Given the description of an element on the screen output the (x, y) to click on. 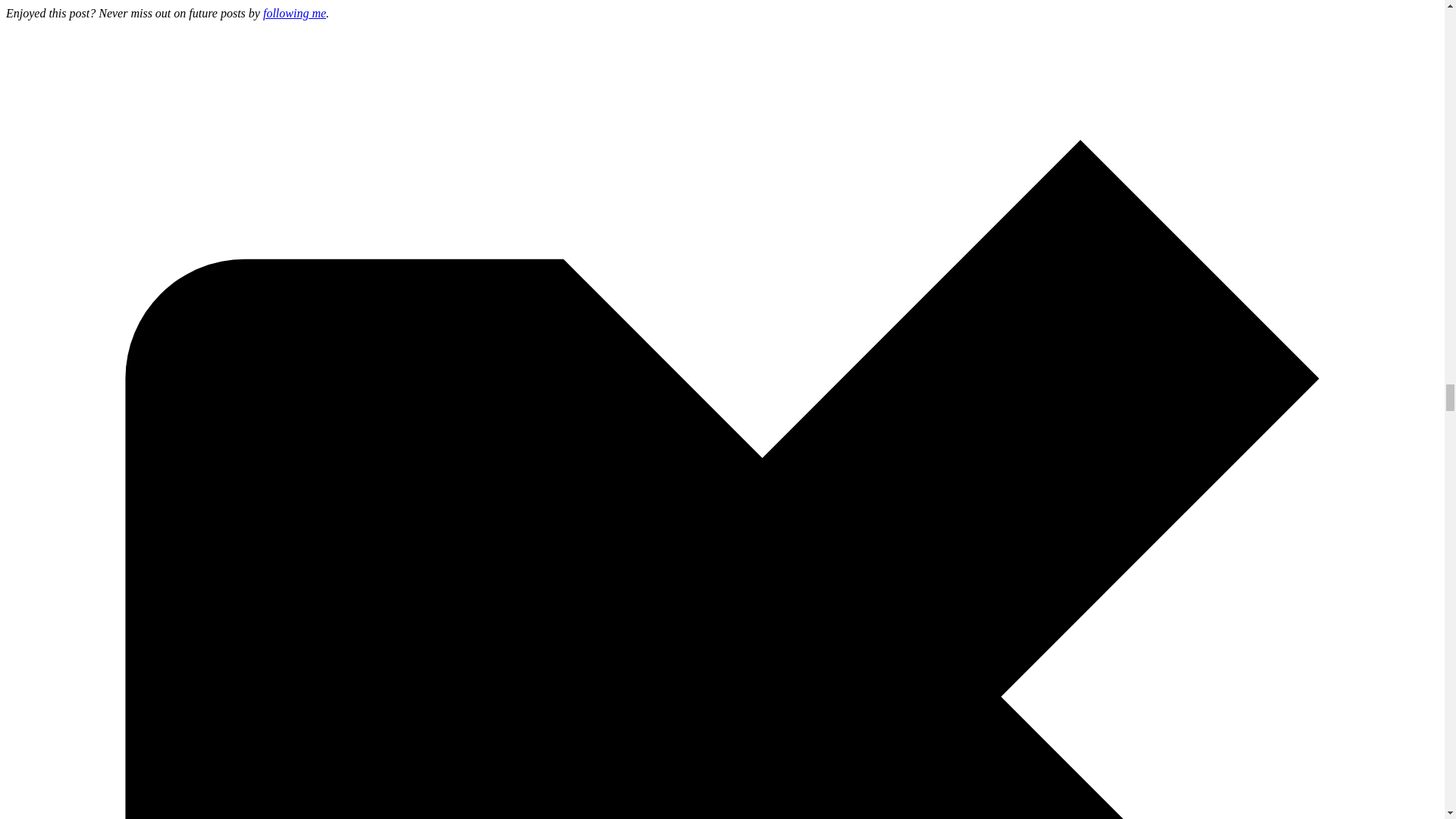
following me (294, 12)
